Given the description of an element on the screen output the (x, y) to click on. 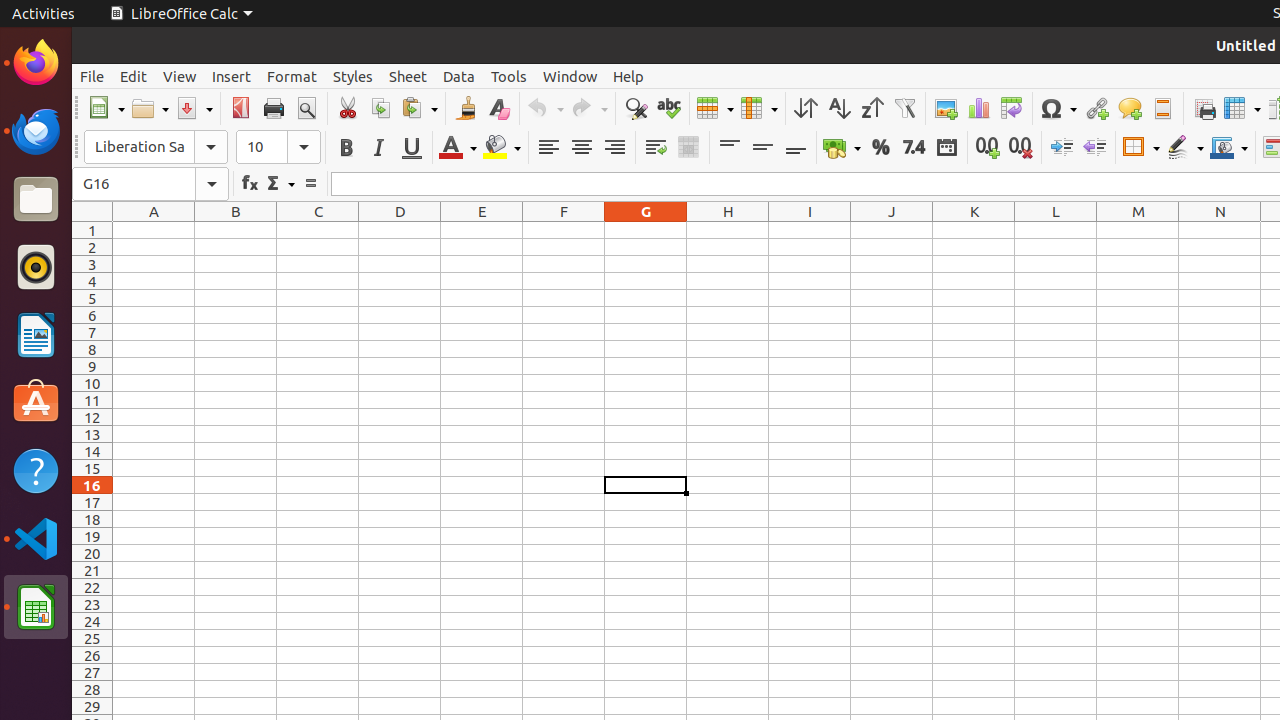
C1 Element type: table-cell (318, 230)
Align Bottom Element type: push-button (795, 147)
Sort Descending Element type: push-button (871, 108)
Print Preview Element type: toggle-button (306, 108)
LibreOffice Writer Element type: push-button (36, 334)
